Given the description of an element on the screen output the (x, y) to click on. 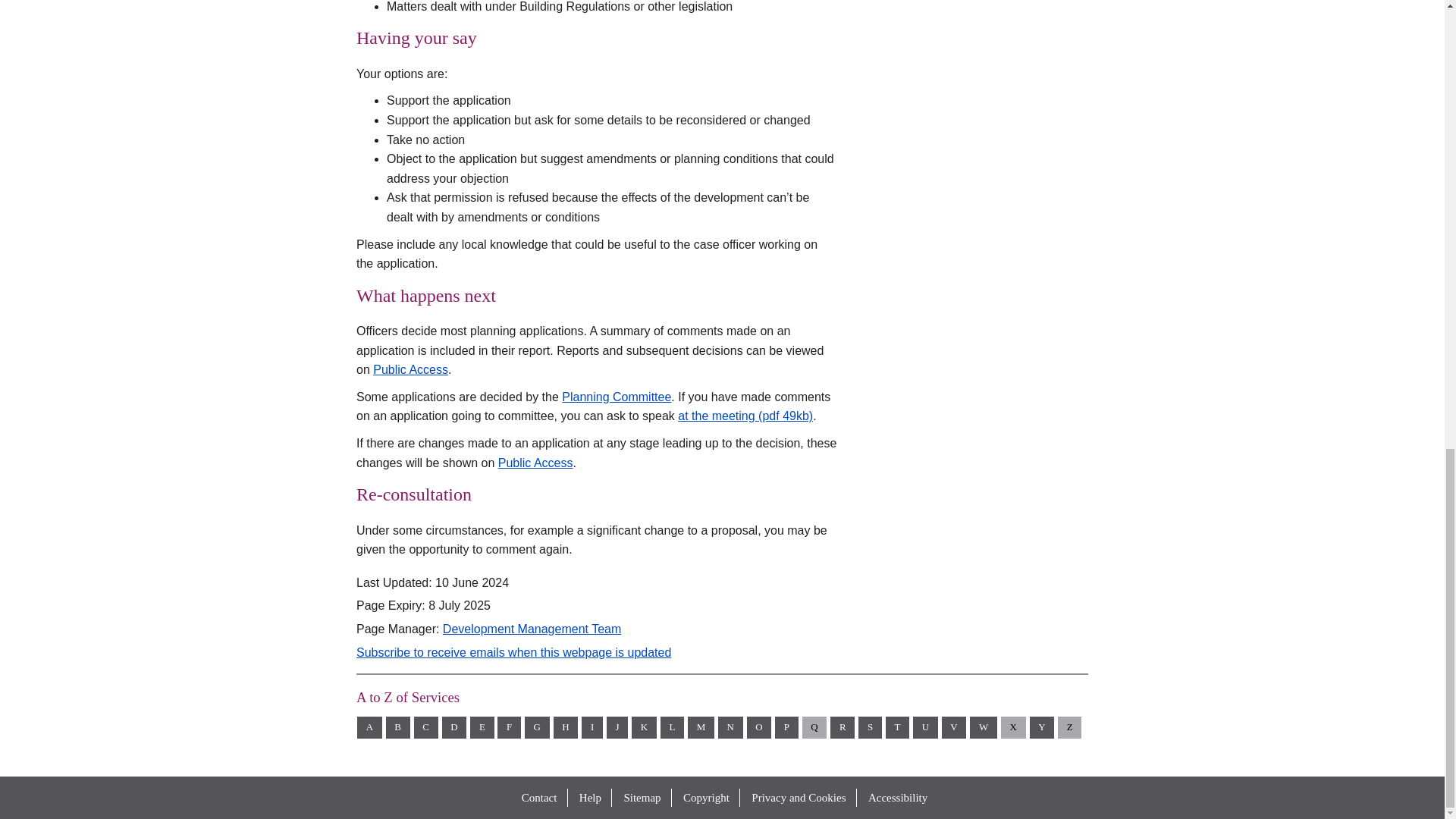
G (537, 727)
Public Access (410, 369)
Public Access (535, 462)
Public Access (410, 369)
B (397, 727)
Development Management Team (531, 628)
C (425, 727)
Planning Committee (616, 396)
Stafford Borough Council's Accessibility Statement (897, 797)
Subscribe to receive emails when this webpage is updated (513, 652)
E (481, 727)
F (509, 727)
D (454, 727)
A (368, 727)
